Given the description of an element on the screen output the (x, y) to click on. 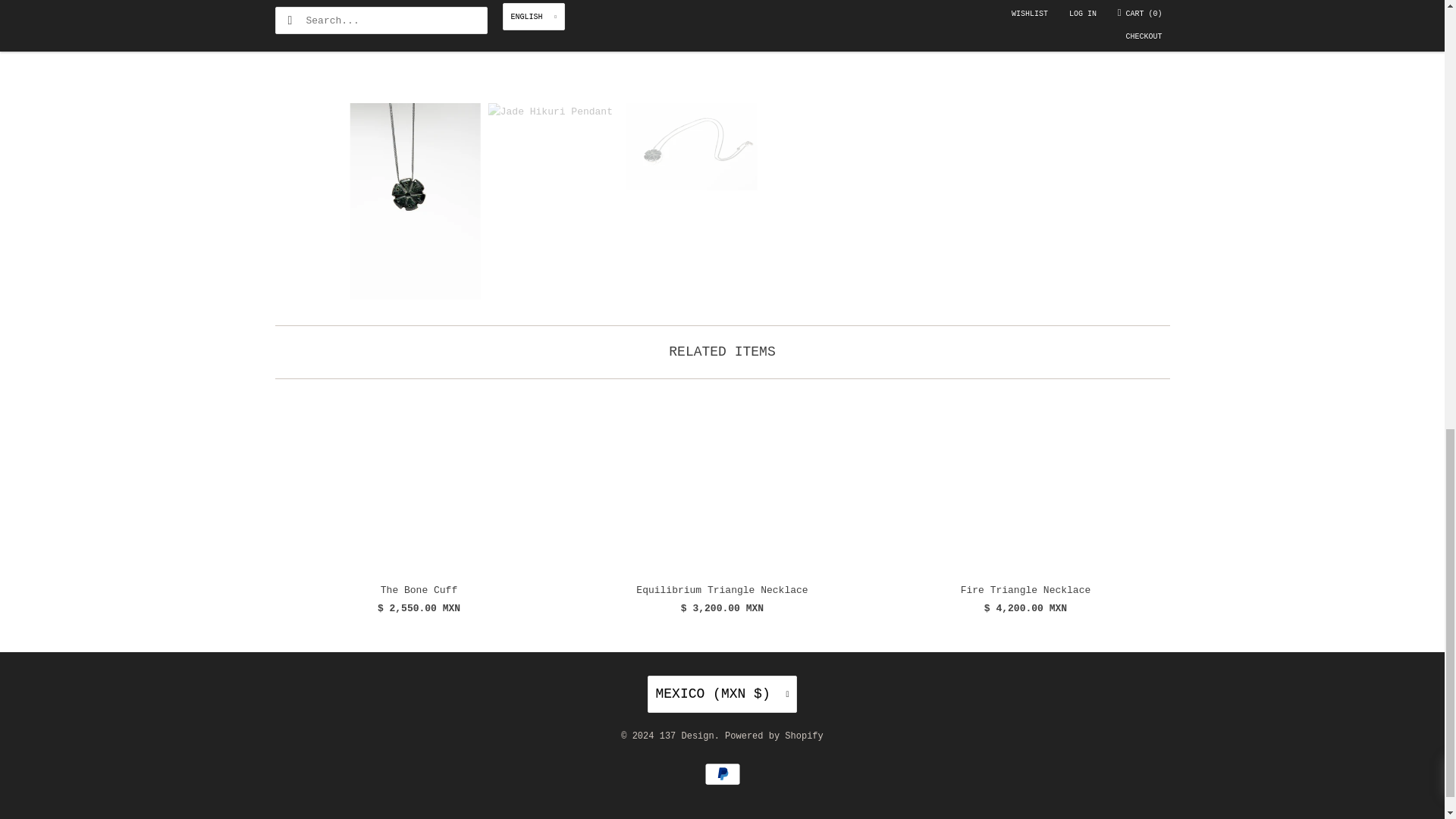
Jade Hikuri Pendant (552, 43)
PayPal (721, 773)
